Given the description of an element on the screen output the (x, y) to click on. 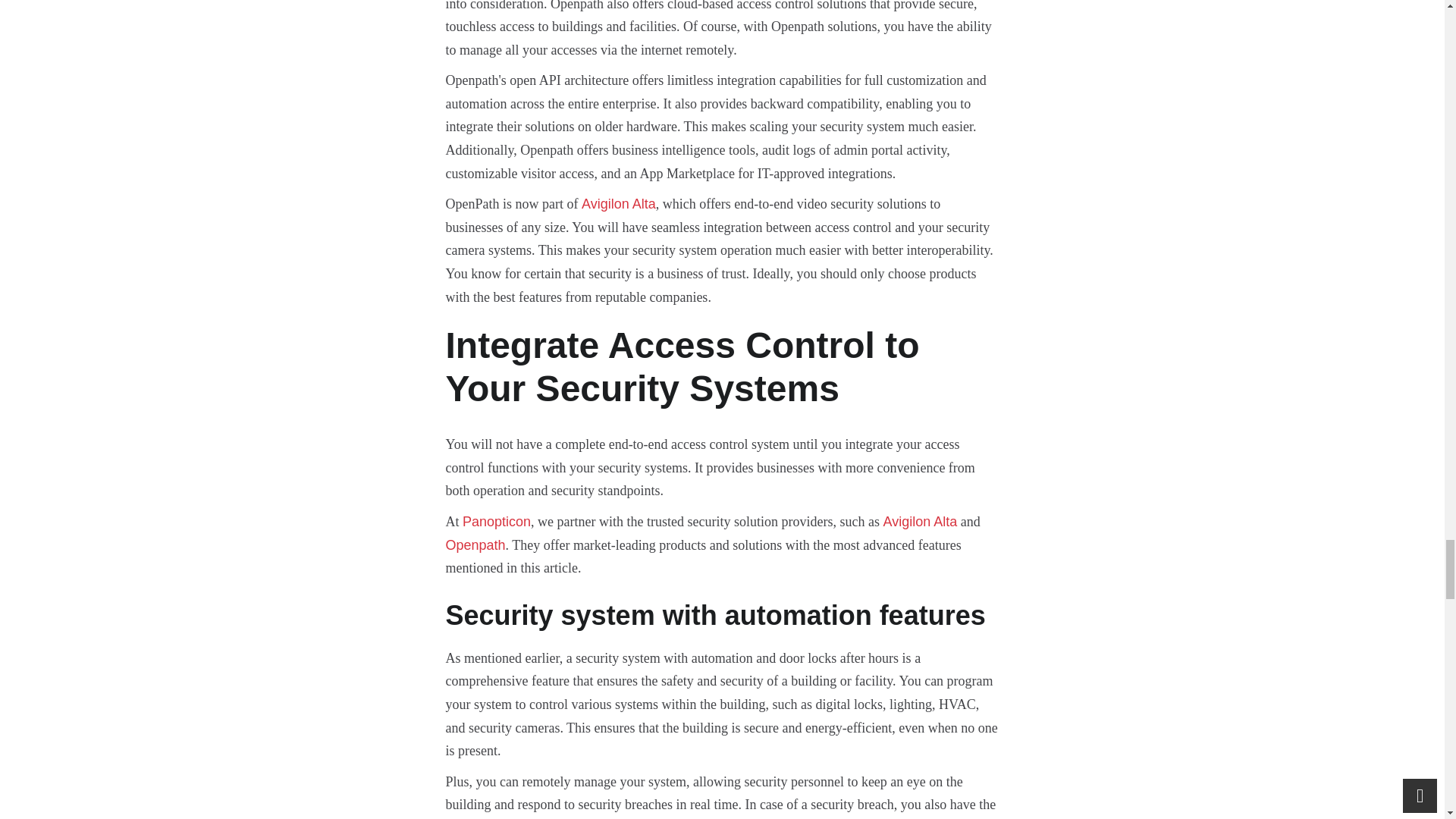
Avigilon Alta (618, 203)
Avigilon Alta (919, 521)
Openpath (475, 544)
Panopticon (497, 521)
